Given the description of an element on the screen output the (x, y) to click on. 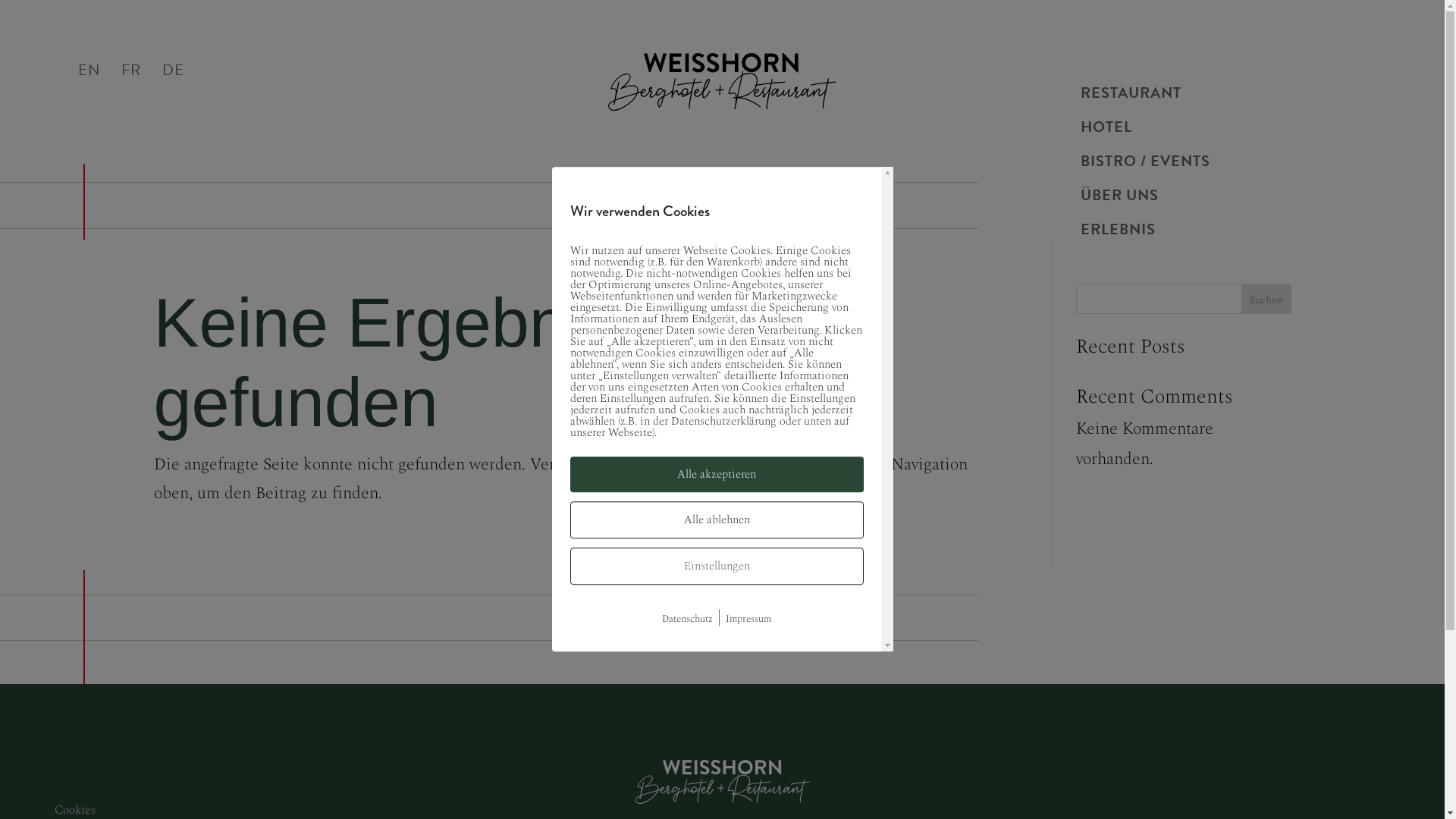
Impressum Element type: text (748, 618)
BISTRO / EVENTS Element type: text (1145, 164)
Alle ablehnen Element type: text (716, 519)
RESTAURANT Element type: text (1130, 95)
Suchen Element type: text (1266, 298)
HOTEL Element type: text (1106, 130)
Einstellungen Element type: text (716, 565)
FR Element type: text (131, 73)
Logo_Weisshorn Element type: hover (722, 781)
Alle akzeptieren Element type: text (716, 474)
EN Element type: text (88, 73)
Logo-Berghotel-und-Restaurant-Weisshorn Element type: hover (721, 81)
DE Element type: text (173, 73)
Datenschutz Element type: text (687, 618)
ERLEBNIS Element type: text (1117, 232)
